Given the description of an element on the screen output the (x, y) to click on. 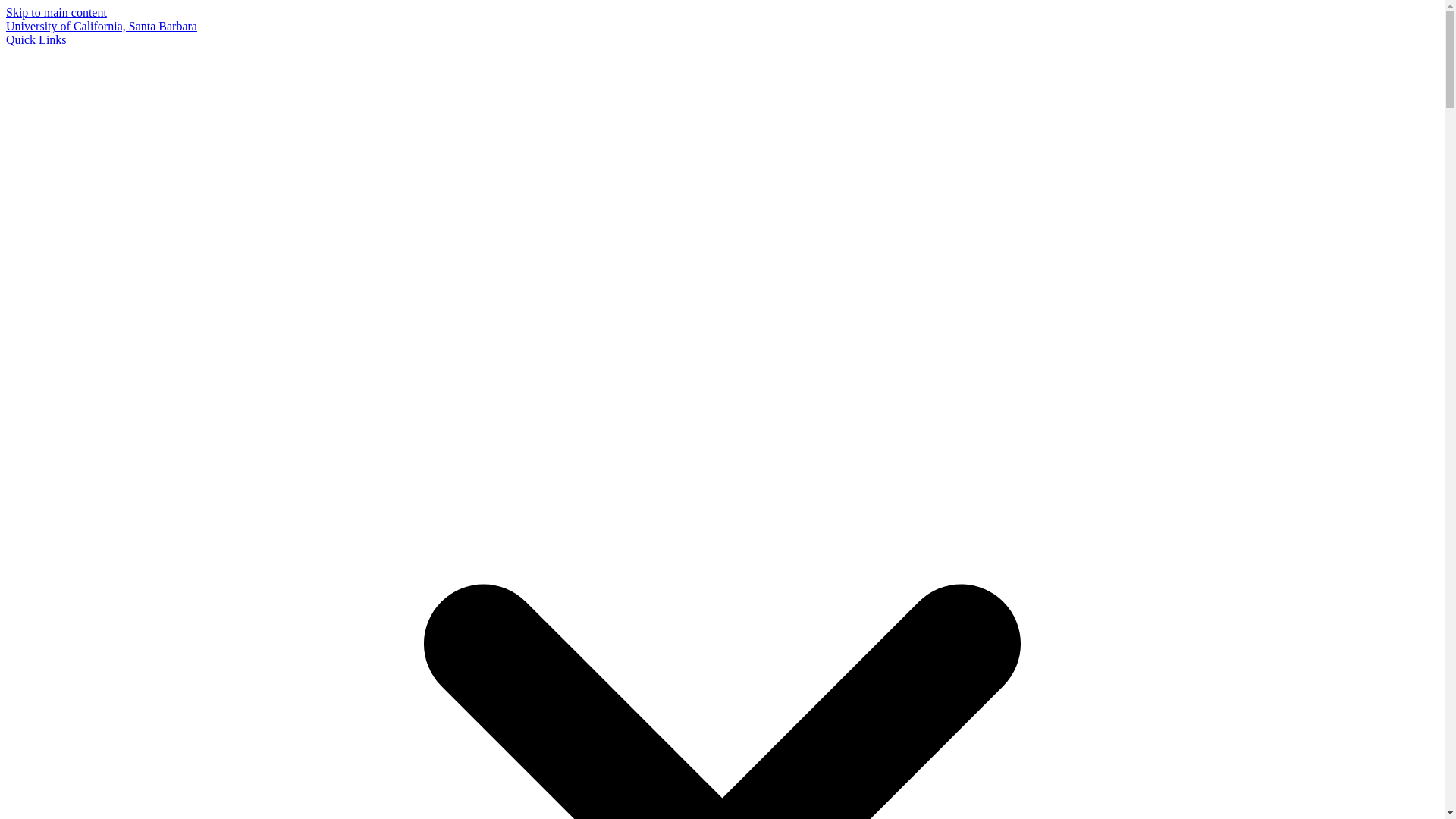
Quick Links (35, 39)
University of California, Santa Barbara (100, 25)
Skip to main content (55, 11)
